Given the description of an element on the screen output the (x, y) to click on. 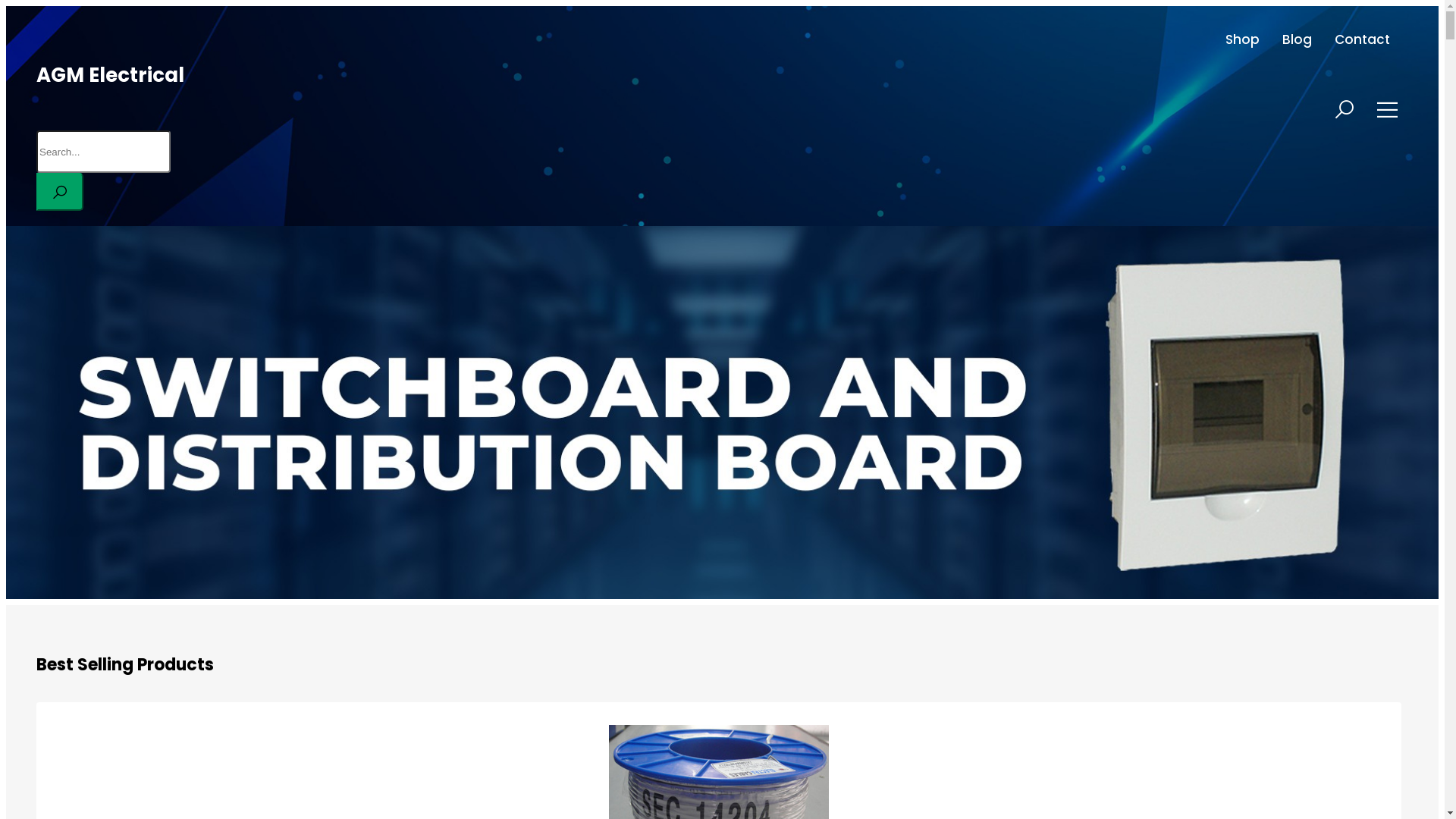
Shop Element type: text (1242, 39)
Blog Element type: text (1296, 39)
Contact Element type: text (1362, 39)
AGM Electrical Element type: text (110, 74)
